Given the description of an element on the screen output the (x, y) to click on. 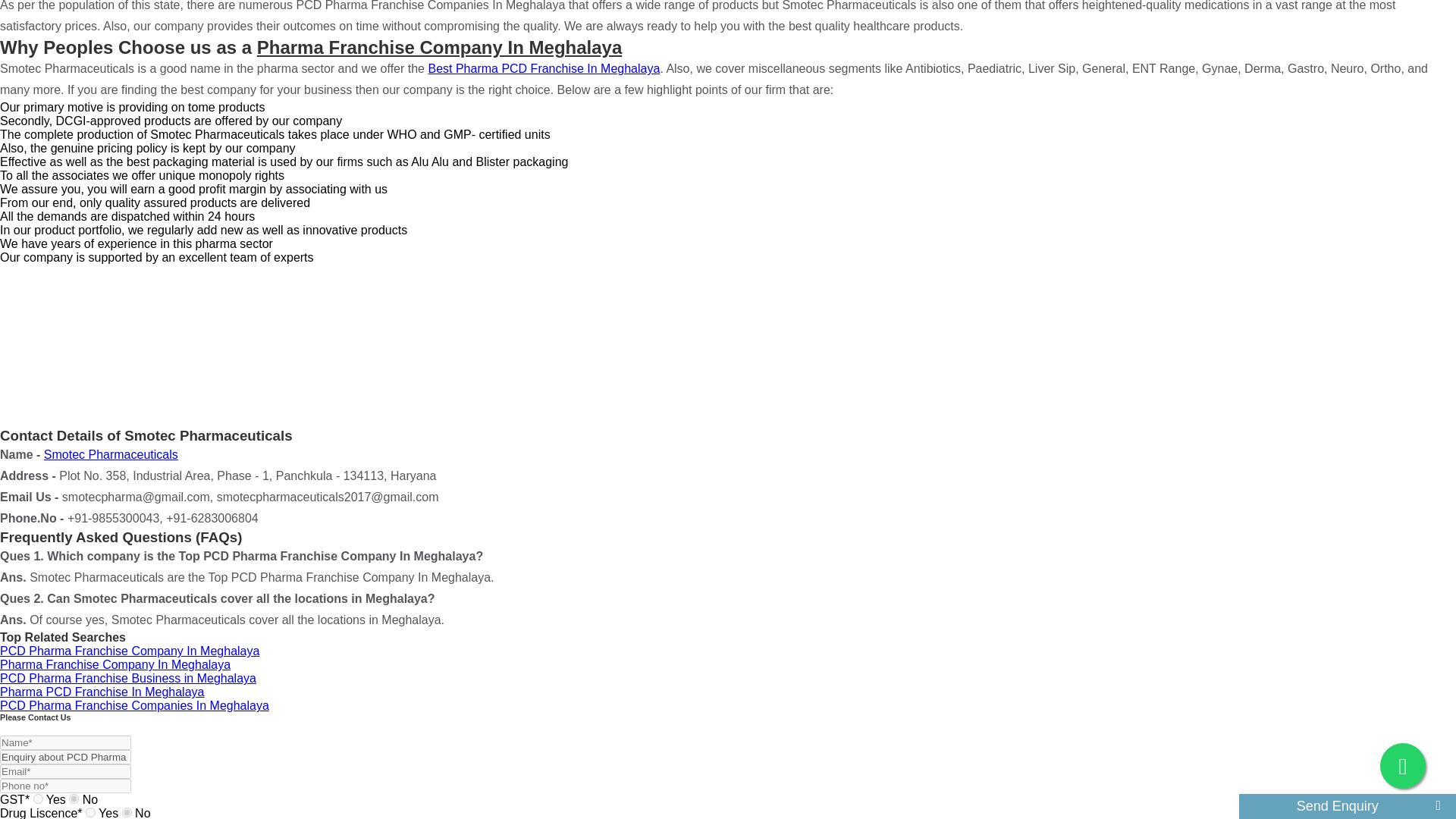
YouTube video player (136, 345)
1 (90, 812)
0 (73, 798)
0 (127, 812)
Enquiry about PCD Pharma Franchise In Meghalaya (65, 757)
1 (38, 798)
